Given the description of an element on the screen output the (x, y) to click on. 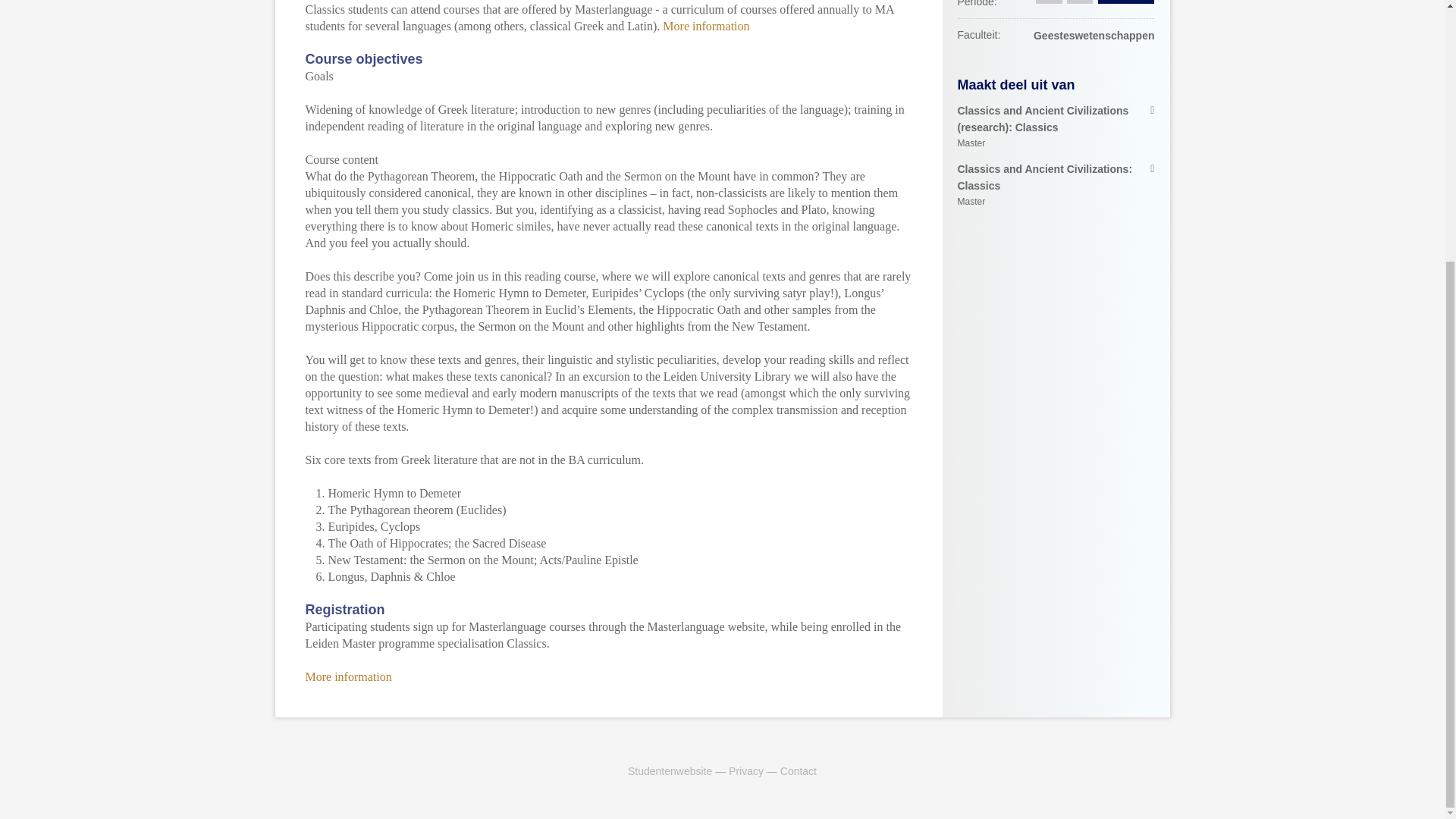
Contact (1055, 185)
Privacy (798, 770)
More information (745, 770)
More information (705, 25)
Studentenwebsite (347, 676)
